Given the description of an element on the screen output the (x, y) to click on. 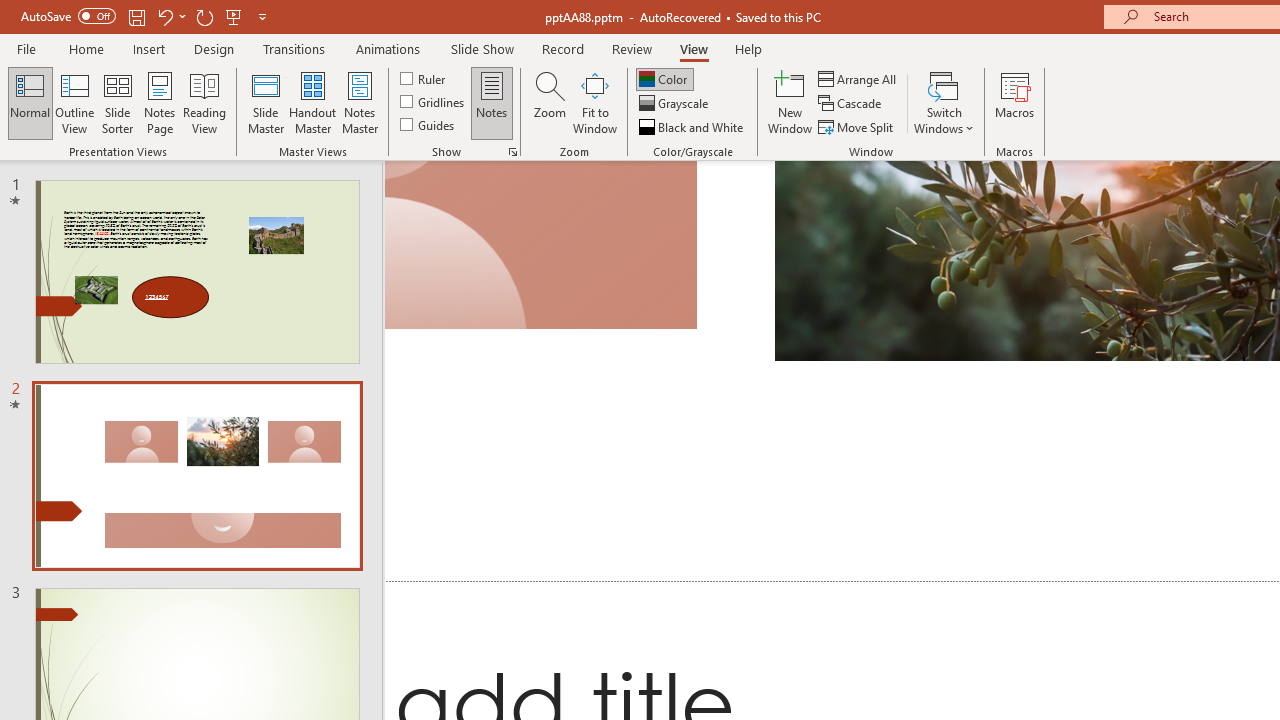
Gridlines (433, 101)
Zoom... (549, 102)
Handout Master (312, 102)
Arrange All (858, 78)
New Window (790, 102)
Color (664, 78)
